Given the description of an element on the screen output the (x, y) to click on. 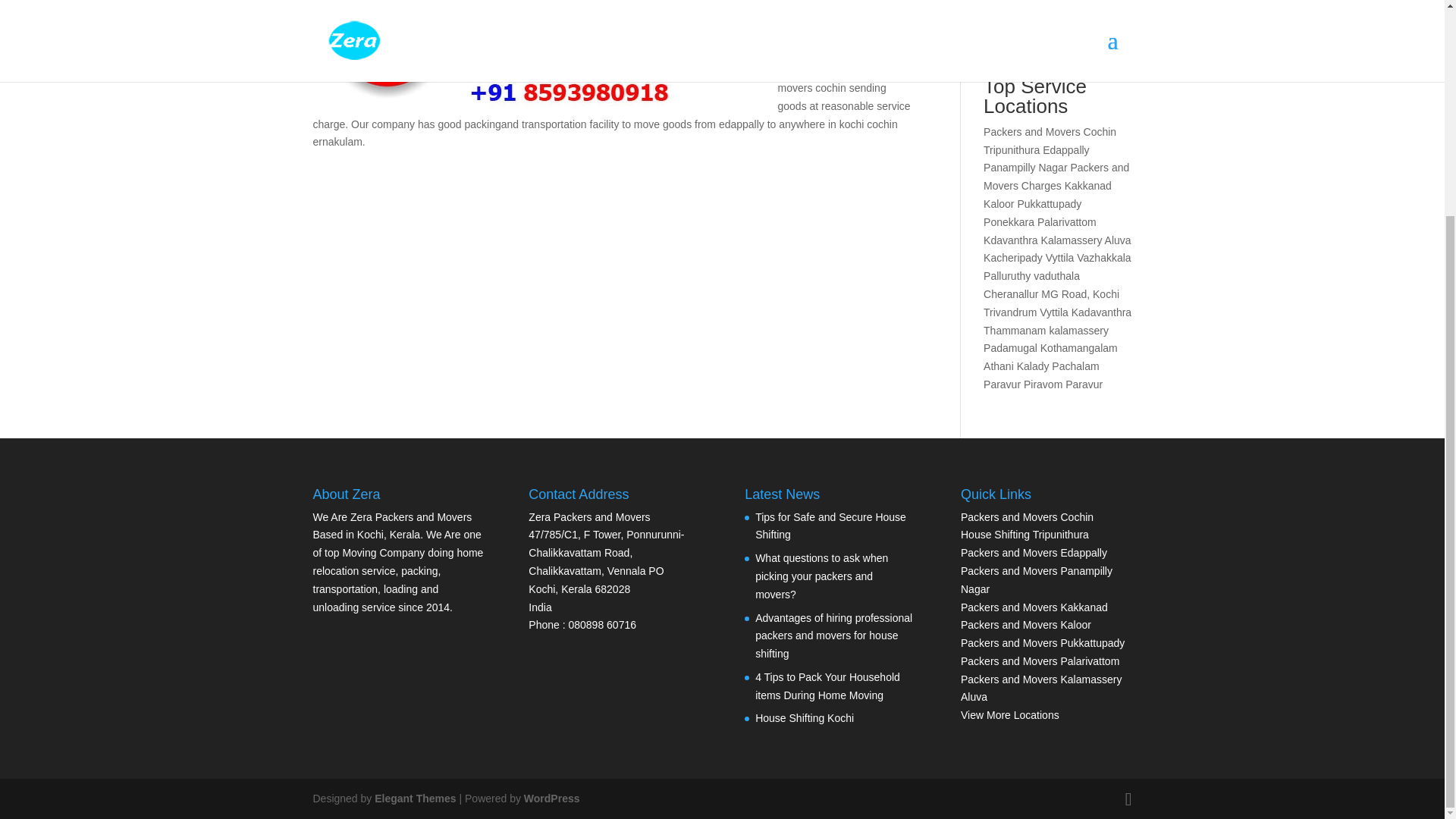
Aluva (1118, 240)
hCard creator (1051, 58)
Vazhakkala (1104, 257)
Kalamassery (1071, 240)
Tripunithura (1011, 150)
Packers and Movers Charges (1056, 176)
Vyttila (1059, 257)
Panampilly Nagar (1025, 167)
Palarivattom (1066, 222)
Edappally (1065, 150)
hCard (1014, 49)
Pukkattupady (1048, 203)
Kacheripady (1013, 257)
Premium WordPress Themes (414, 798)
Kaloor (998, 203)
